Given the description of an element on the screen output the (x, y) to click on. 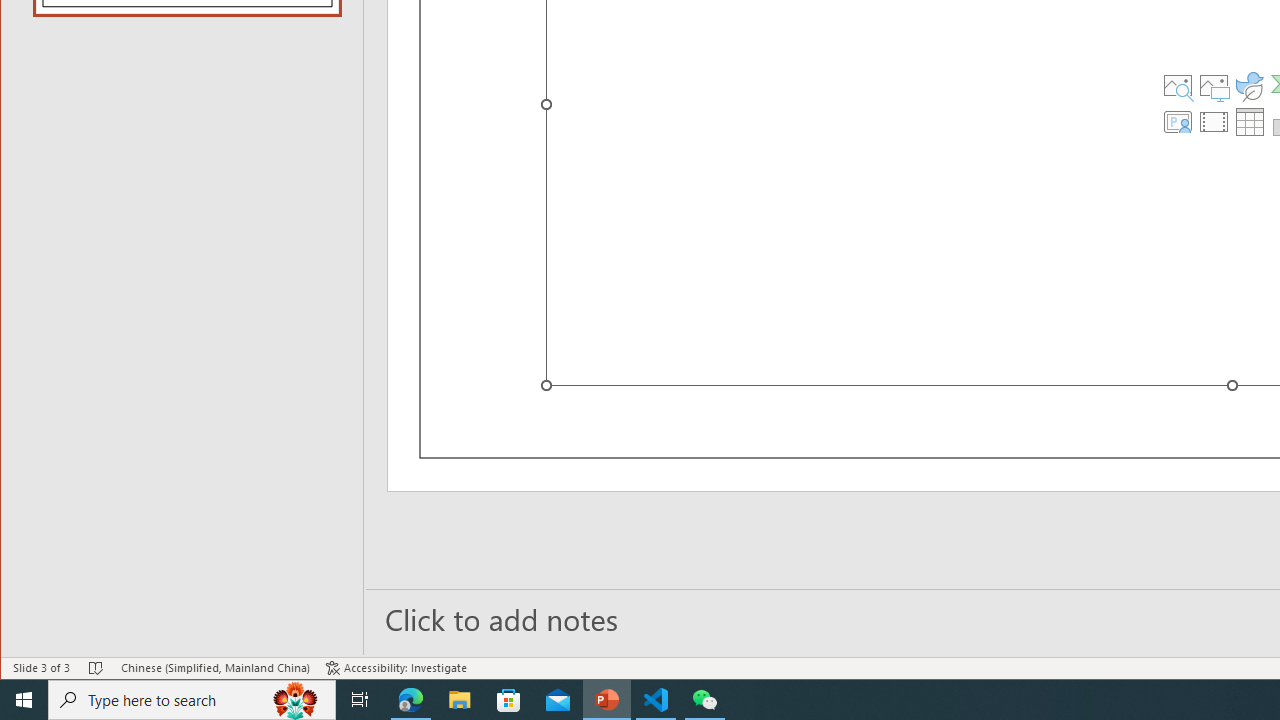
Insert Cameo (1178, 121)
WeChat - 1 running window (704, 699)
